Given the description of an element on the screen output the (x, y) to click on. 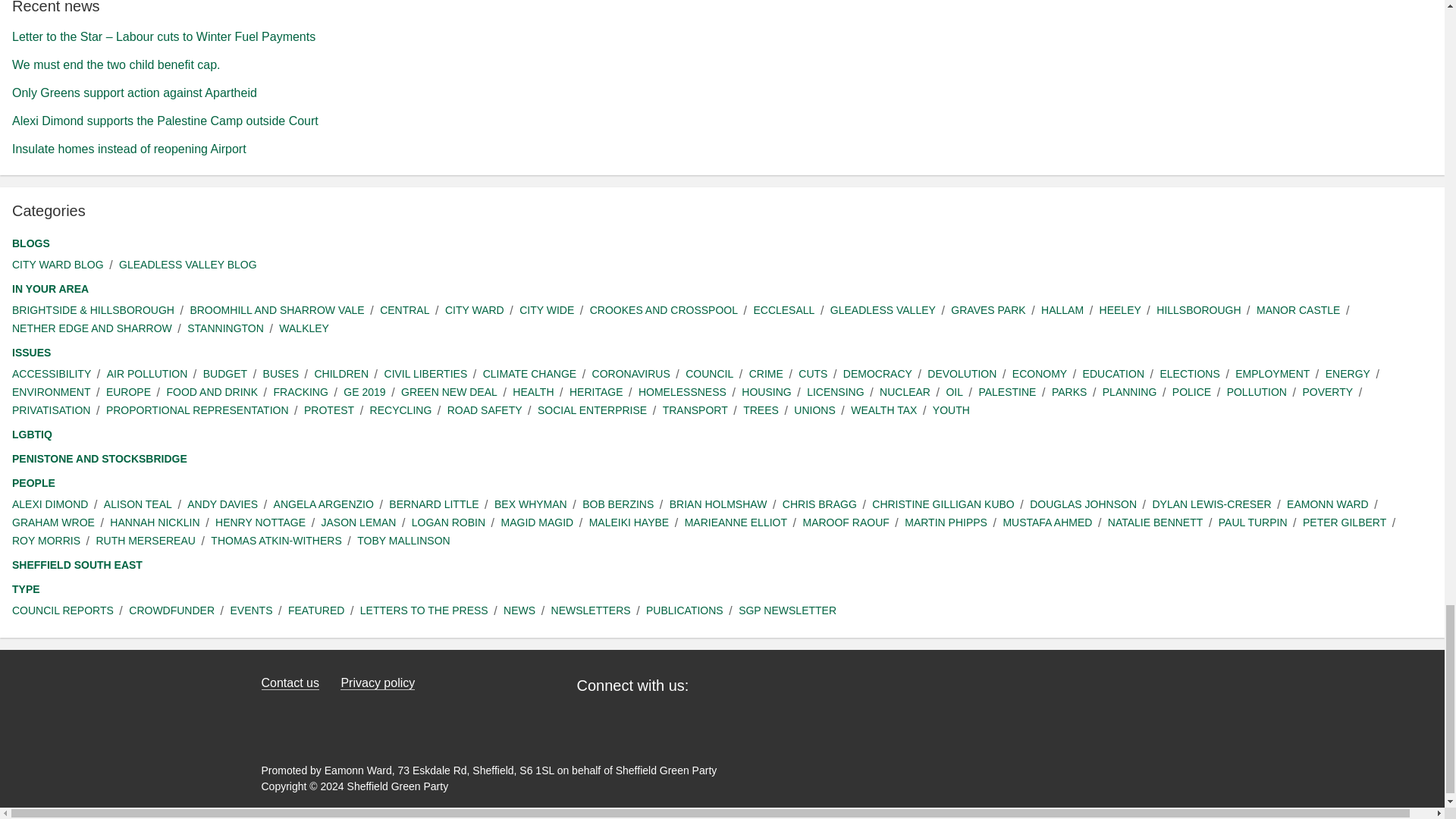
Only Greens support action against Apartheid (134, 92)
We must end the two child benefit cap. (116, 64)
Alexi Dimond supports the Palestine Camp outside Court (164, 120)
CITY WARD BLOG (57, 264)
IN YOUR AREA (49, 289)
GLEADLESS VALLEY BLOG (188, 264)
BLOGS (30, 243)
Insulate homes instead of reopening Airport (128, 148)
BROOMHILL AND SHARROW VALE (276, 310)
